Given the description of an element on the screen output the (x, y) to click on. 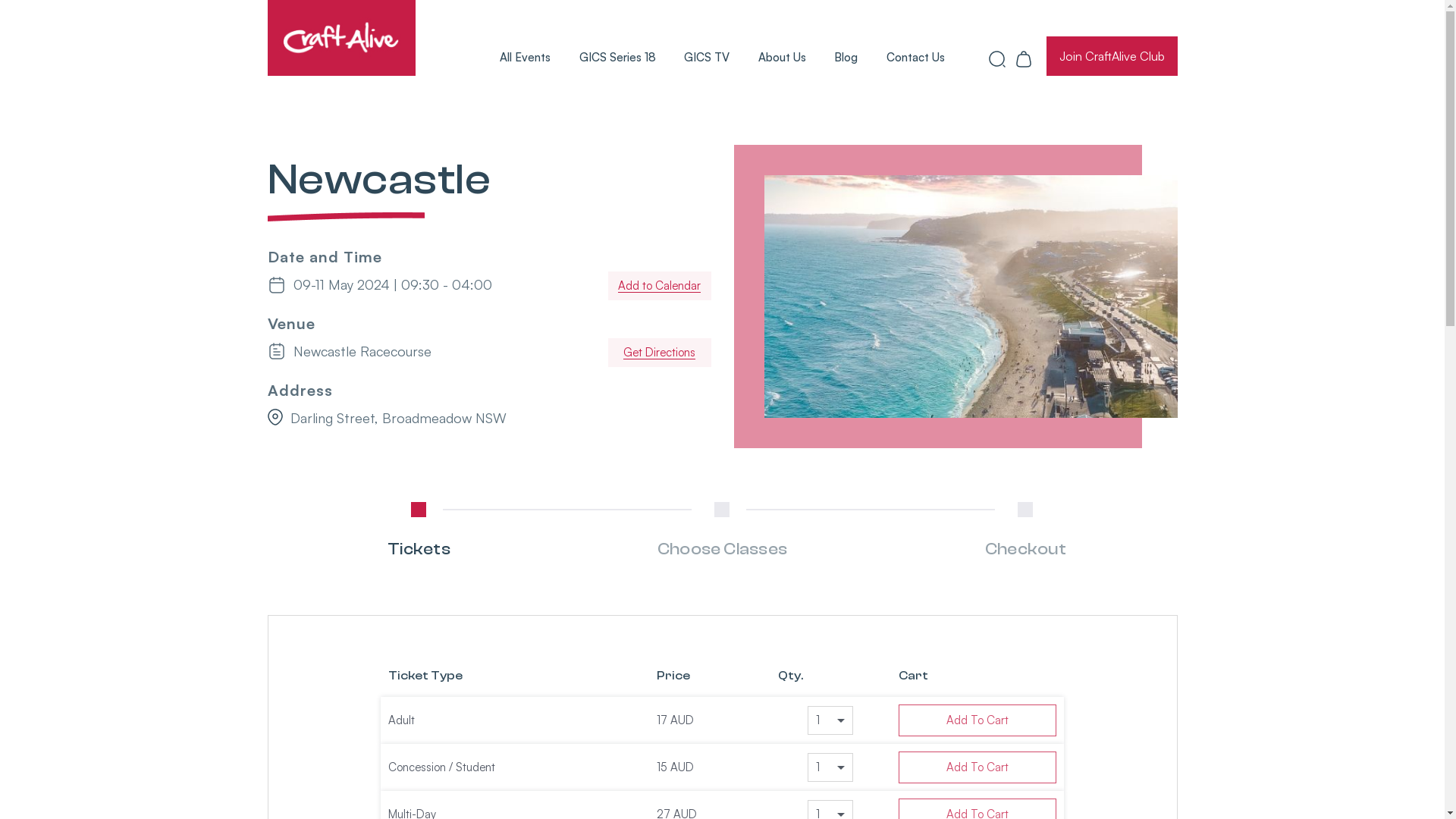
Add to Calendar Element type: text (659, 285)
Add To Cart Element type: text (977, 720)
Contact Us Element type: text (915, 57)
GICS TV Element type: text (706, 57)
GICS Series 18 Element type: text (617, 57)
All Events Element type: text (525, 57)
Get Directions Element type: text (659, 352)
About Us Element type: text (781, 57)
Add To Cart Element type: text (977, 767)
Join CraftAlive Club Element type: text (1111, 55)
Blog Element type: text (845, 57)
